Given the description of an element on the screen output the (x, y) to click on. 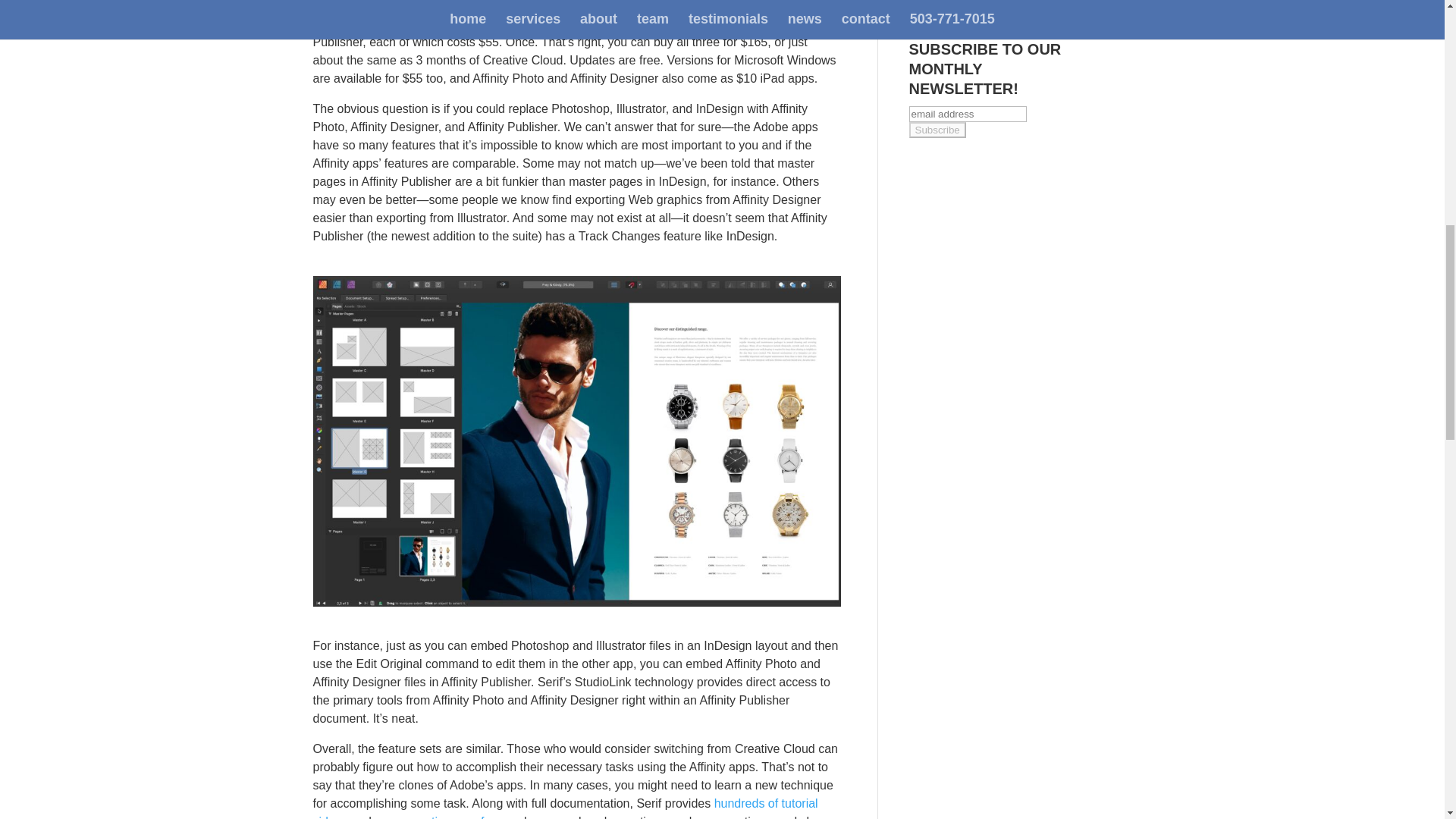
Affinity suite from Serif (506, 23)
active user forum (465, 816)
Subscribe (936, 130)
hundreds of tutorial videos (564, 807)
